Given the description of an element on the screen output the (x, y) to click on. 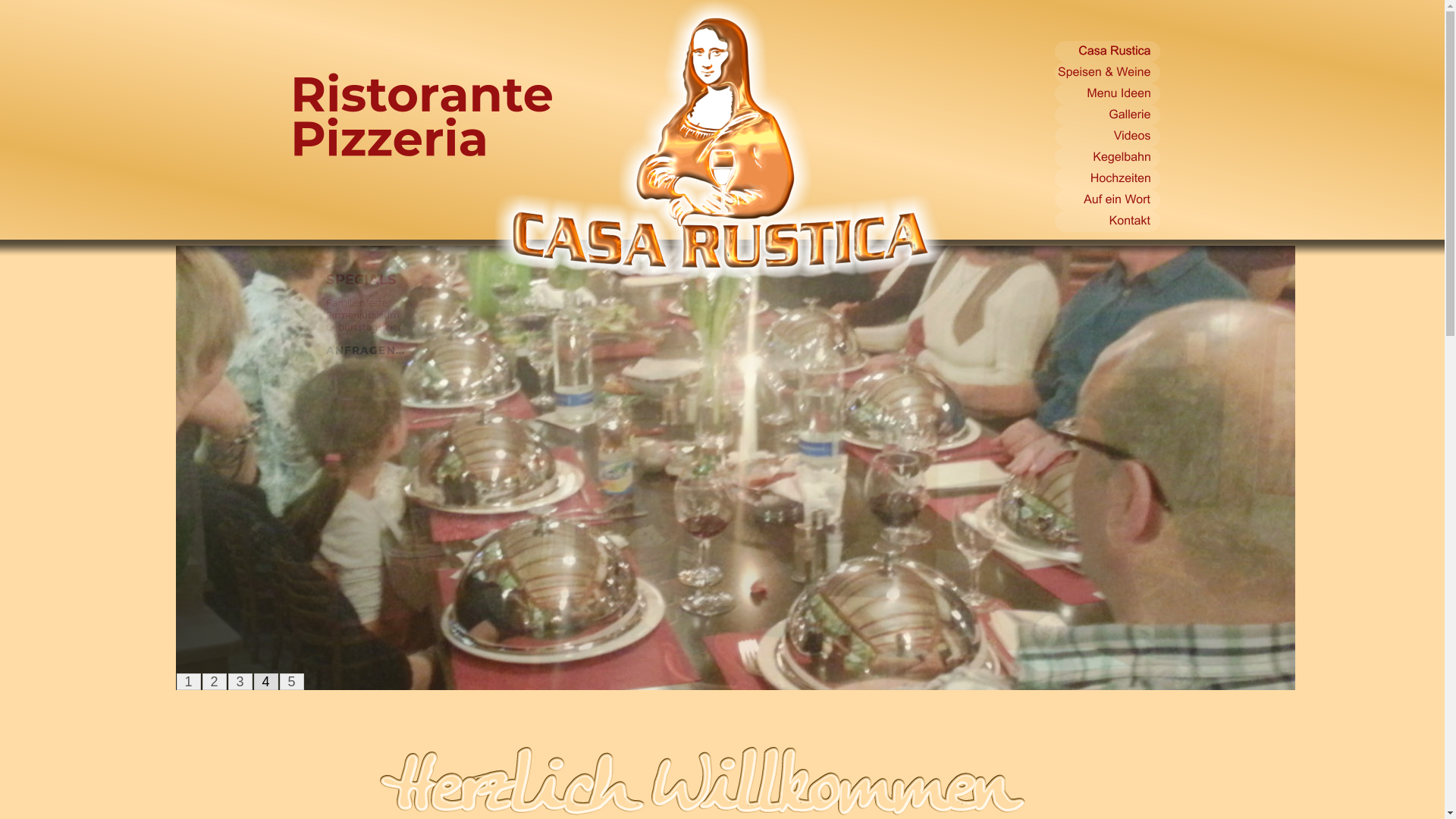
4 Element type: text (266, 681)
2 Element type: text (214, 681)
5 Element type: text (291, 681)
3 Element type: text (240, 681)
1 Element type: text (187, 681)
